Given the description of an element on the screen output the (x, y) to click on. 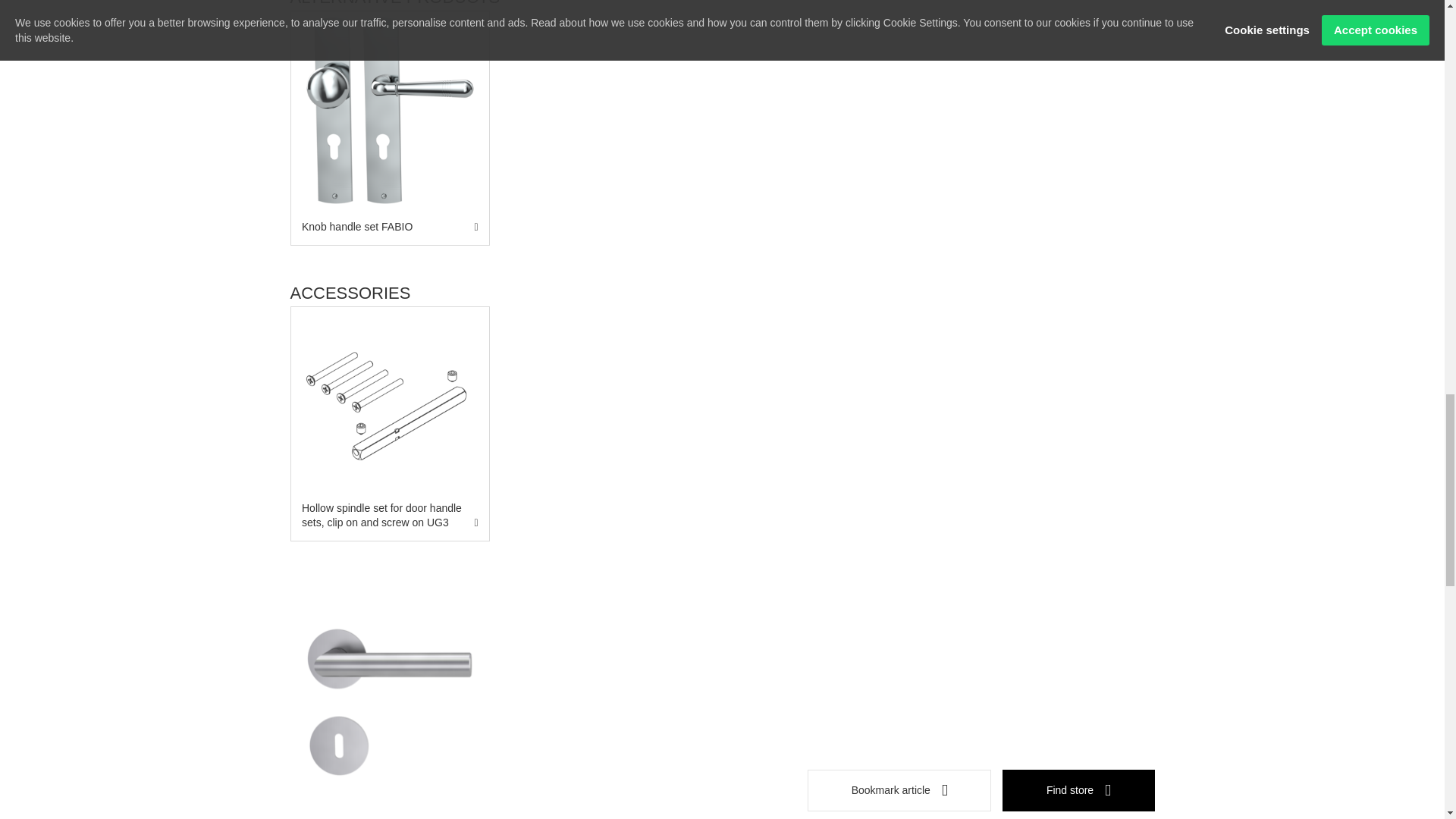
Knob handle set FABIO (389, 109)
